Given the description of an element on the screen output the (x, y) to click on. 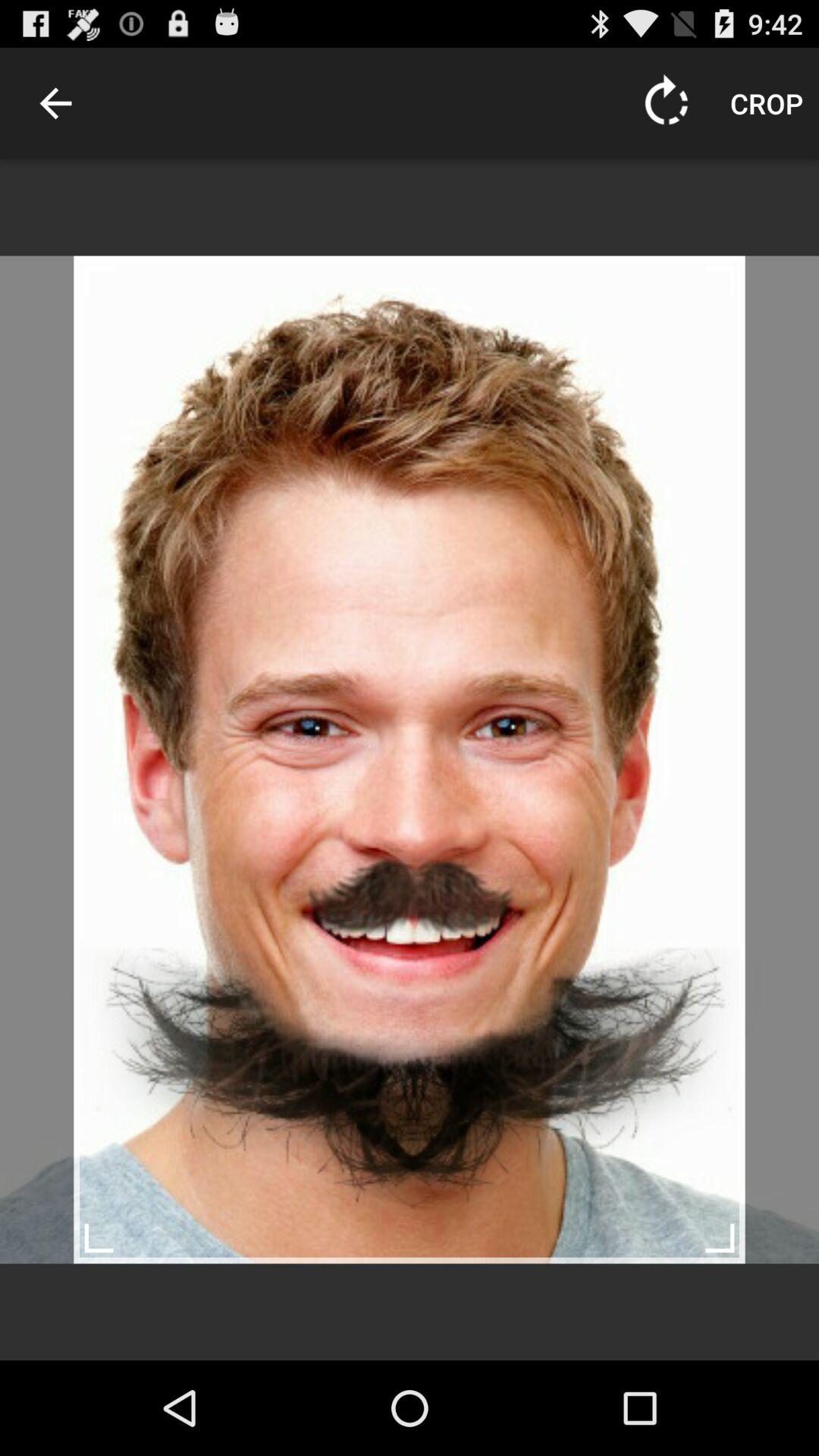
press item at the top left corner (55, 103)
